Given the description of an element on the screen output the (x, y) to click on. 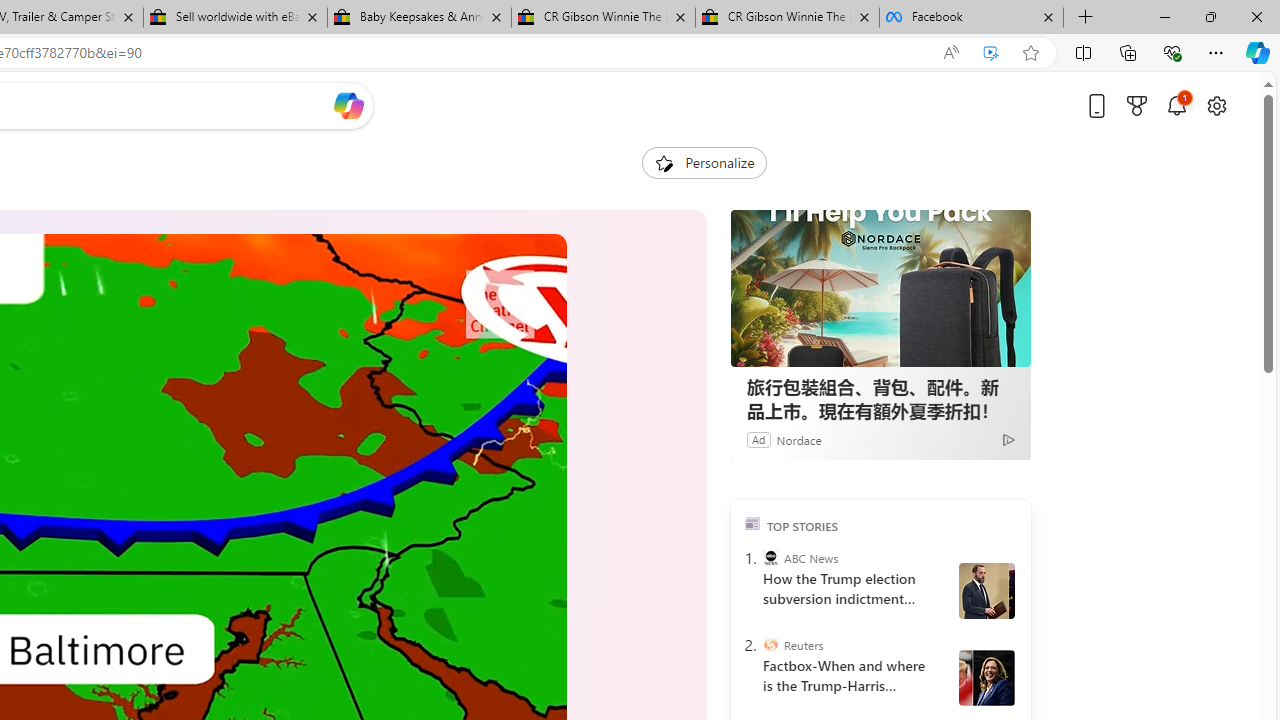
Facebook (971, 17)
Open settings (1216, 105)
Sell worldwide with eBay (234, 17)
Enhance video (991, 53)
